Given the description of an element on the screen output the (x, y) to click on. 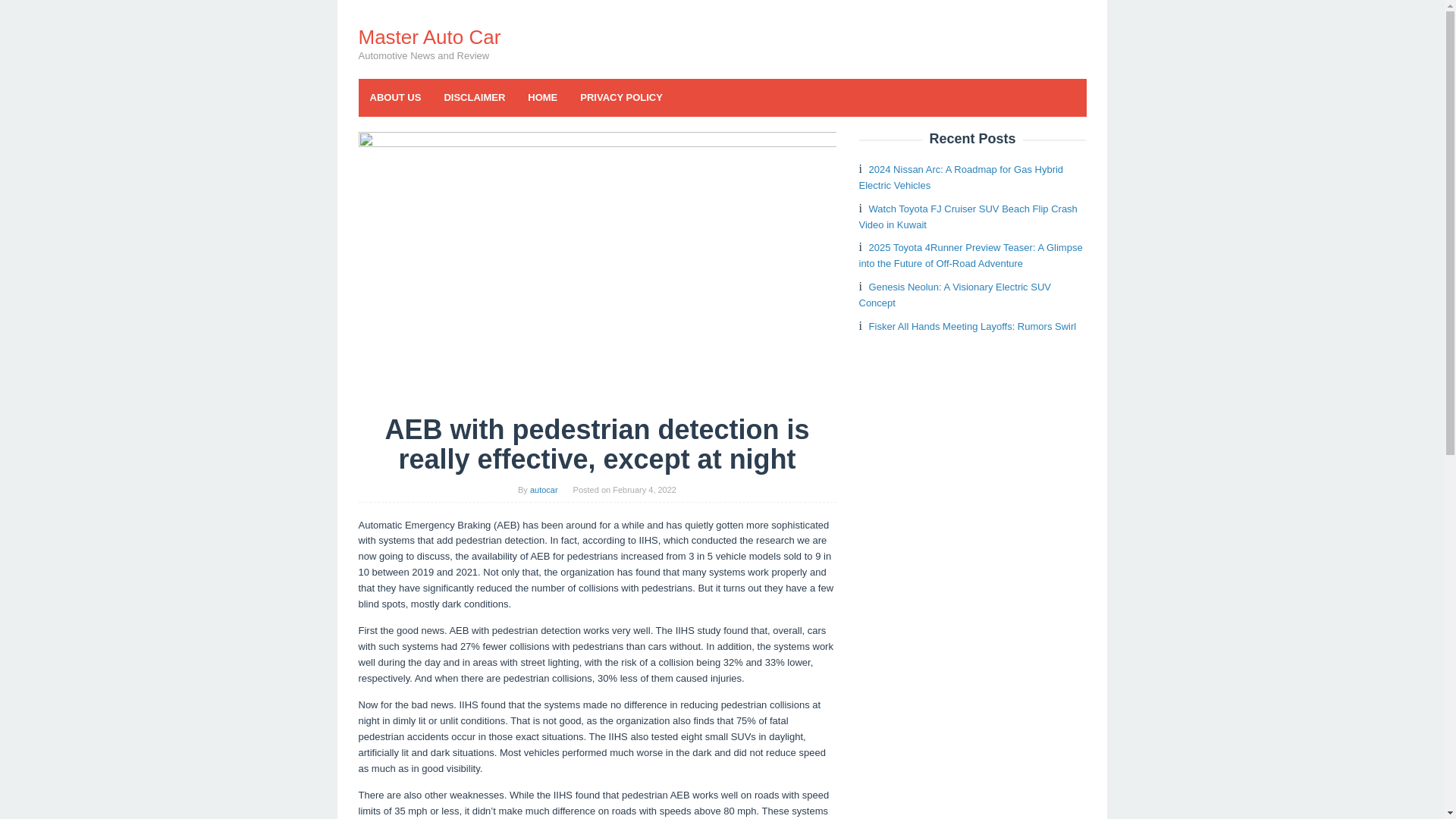
Master Auto Car (429, 36)
Master Auto Car (429, 36)
Permalink to: autocar (543, 489)
autocar (543, 489)
Watch Toyota FJ Cruiser SUV Beach Flip Crash Video in Kuwait (968, 216)
Genesis Neolun: A Visionary Electric SUV Concept (954, 294)
2024 Nissan Arc: A Roadmap for Gas Hybrid Electric Vehicles (960, 176)
ABOUT US (395, 97)
